Given the description of an element on the screen output the (x, y) to click on. 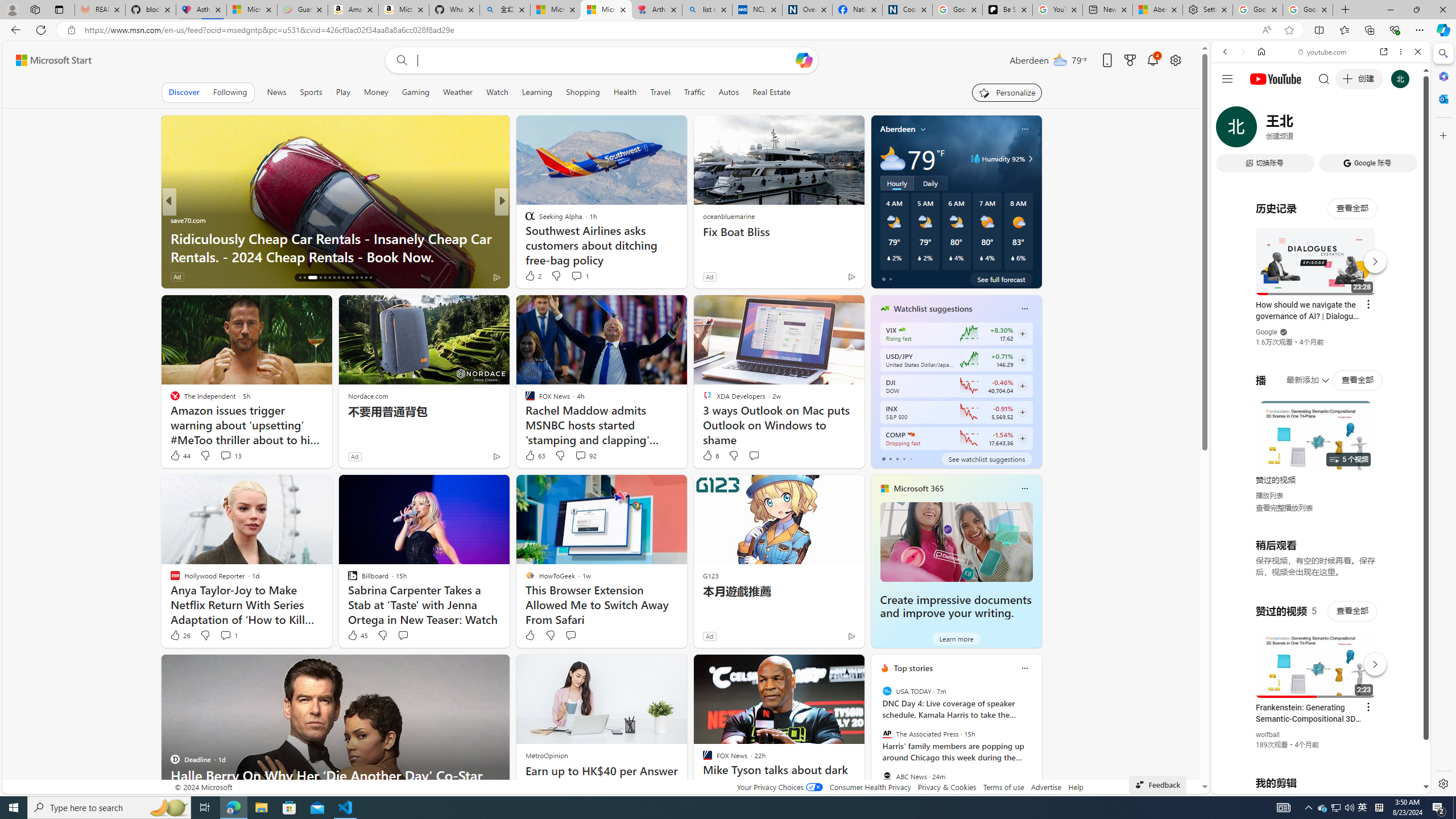
Aberdeen, Hong Kong SAR hourly forecast | Microsoft Weather (1158, 9)
previous (876, 741)
44 Like (179, 455)
Travel (660, 92)
Shopping (583, 92)
Sports (310, 92)
tab-0 (882, 458)
